Given the description of an element on the screen output the (x, y) to click on. 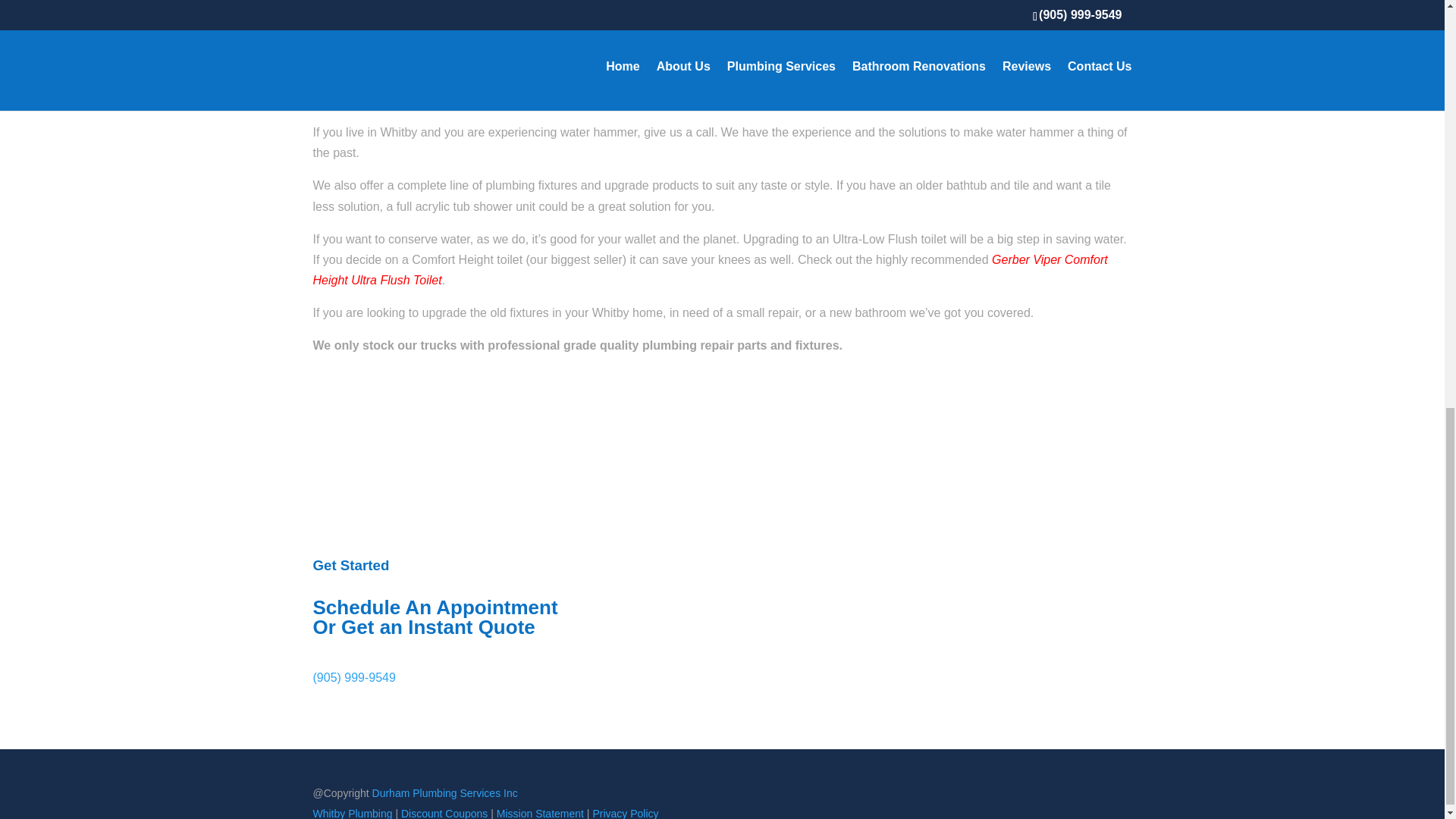
Discount Coupons (444, 813)
Mission Statement (539, 813)
Schedule An Appointment (382, 407)
Durham Plumbing Services Inc (445, 793)
Privacy Policy (625, 813)
Durham Plumbing (445, 793)
Discount Coupons (444, 813)
Privacy Policy (625, 813)
Plumbing Whitby (352, 813)
Mission Statement (539, 813)
